Given the description of an element on the screen output the (x, y) to click on. 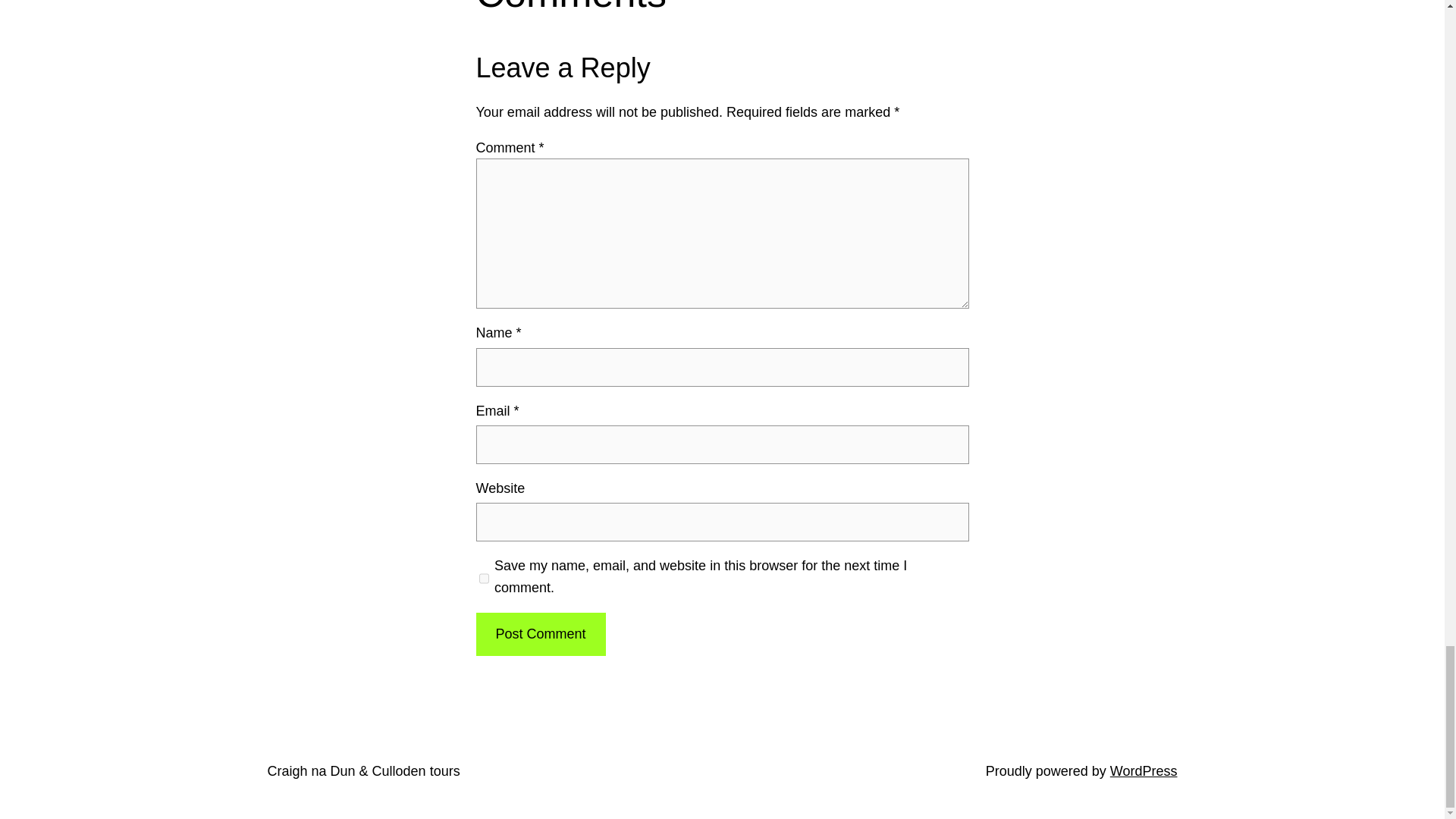
Post Comment (540, 634)
Post Comment (540, 634)
WordPress (1143, 770)
